Given the description of an element on the screen output the (x, y) to click on. 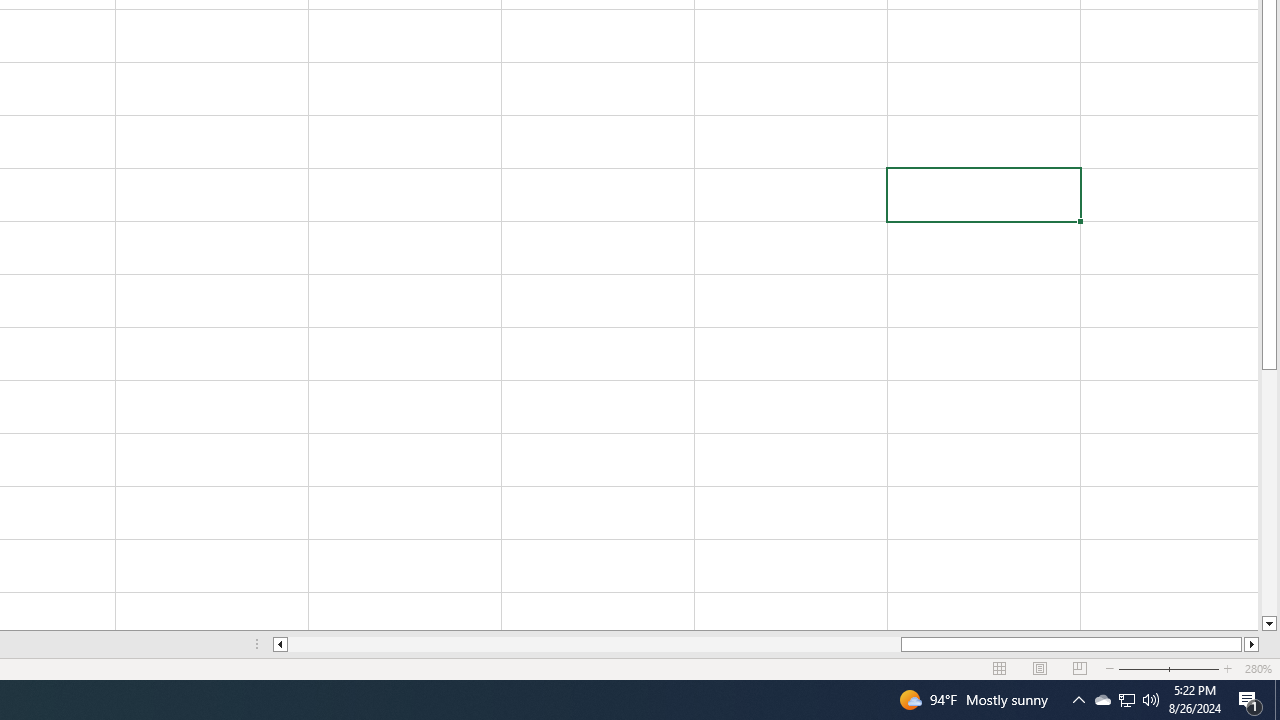
Column right (1252, 644)
Normal (1000, 668)
Class: NetUIScrollBar (765, 644)
Zoom (1168, 668)
Page left (594, 644)
Zoom Out (1156, 668)
Column left (279, 644)
Page down (1268, 493)
Line down (1268, 624)
Zoom In (1227, 668)
Page Break Preview (1079, 668)
